Given the description of an element on the screen output the (x, y) to click on. 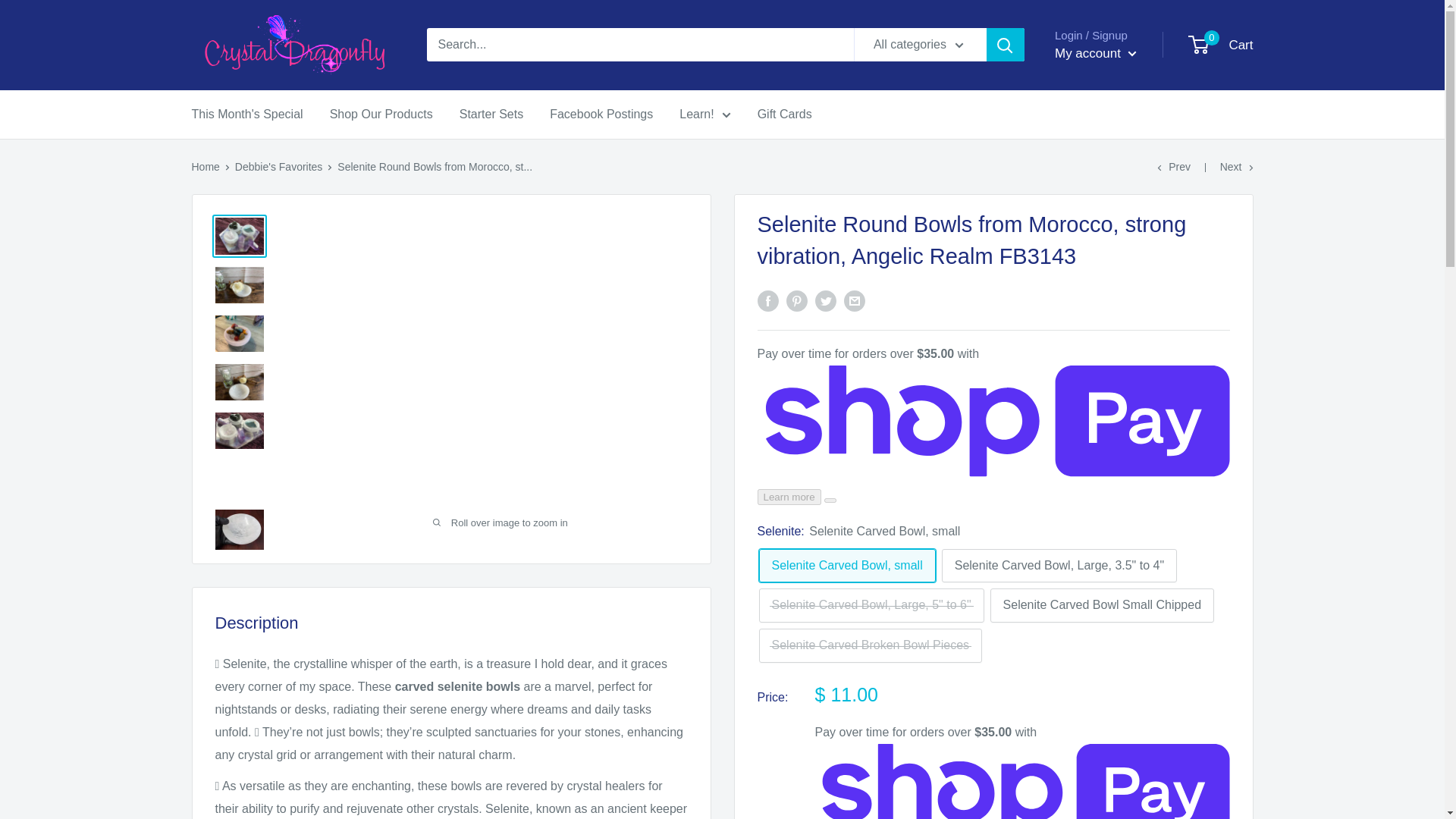
Selenite Carved Bowl, Large, 5" to 6" (871, 605)
Selenite Carved Bowl Small Chipped (1102, 605)
Selenite Carved Bowl, small (846, 565)
Crystal Dragonfly Shoppe (293, 45)
Selenite Carved Bowl, Large, 3.5" to 4" (1059, 565)
Selenite Carved Broken Bowl Pieces (869, 645)
